Given the description of an element on the screen output the (x, y) to click on. 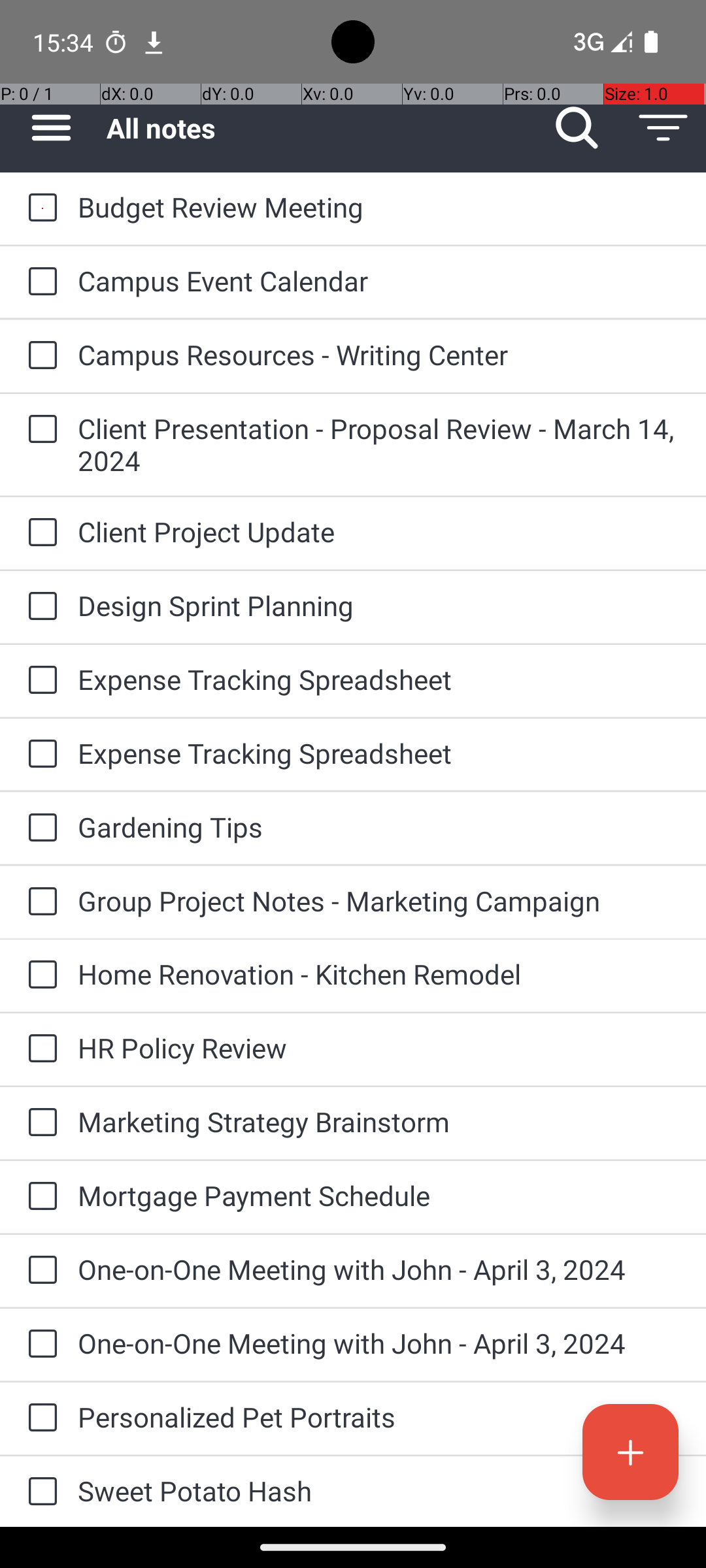
to-do: Campus Resources - Writing Center Element type: android.widget.CheckBox (38, 356)
Campus Resources - Writing Center Element type: android.widget.TextView (378, 354)
to-do: Client Presentation - Proposal Review - March 14, 2024 Element type: android.widget.CheckBox (38, 429)
Client Presentation - Proposal Review - March 14, 2024 Element type: android.widget.TextView (378, 443)
to-do: Home Renovation - Kitchen Remodel Element type: android.widget.CheckBox (38, 975)
Home Renovation - Kitchen Remodel Element type: android.widget.TextView (378, 973)
to-do: Marketing Strategy Brainstorm Element type: android.widget.CheckBox (38, 1123)
Marketing Strategy Brainstorm Element type: android.widget.TextView (378, 1121)
to-do: Personalized Pet Portraits Element type: android.widget.CheckBox (38, 1418)
Personalized Pet Portraits Element type: android.widget.TextView (378, 1416)
to-do: Sweet Potato Hash Element type: android.widget.CheckBox (38, 1491)
Sweet Potato Hash Element type: android.widget.TextView (378, 1490)
